Given the description of an element on the screen output the (x, y) to click on. 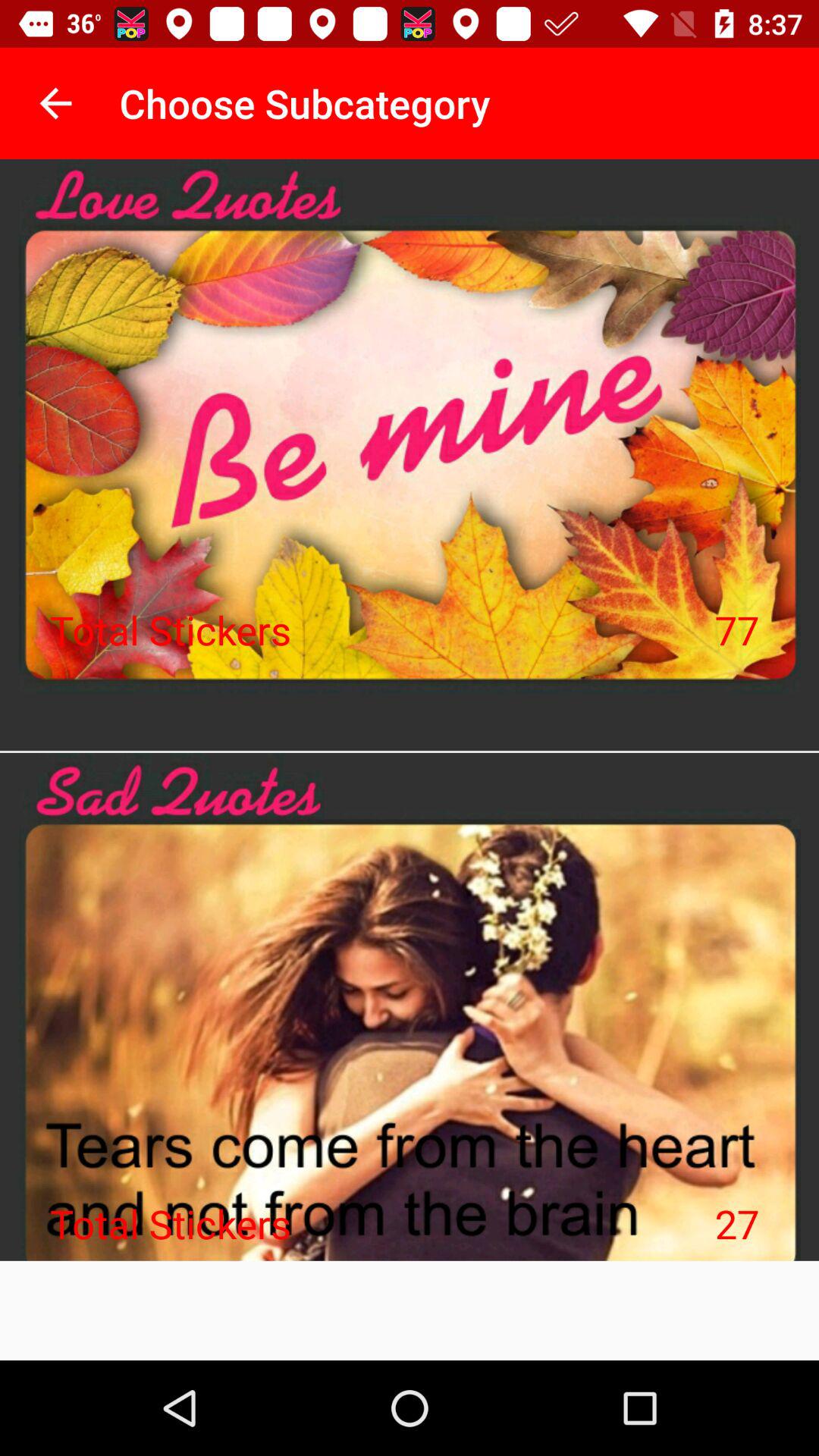
choose item to the left of the choose subcategory (55, 103)
